Given the description of an element on the screen output the (x, y) to click on. 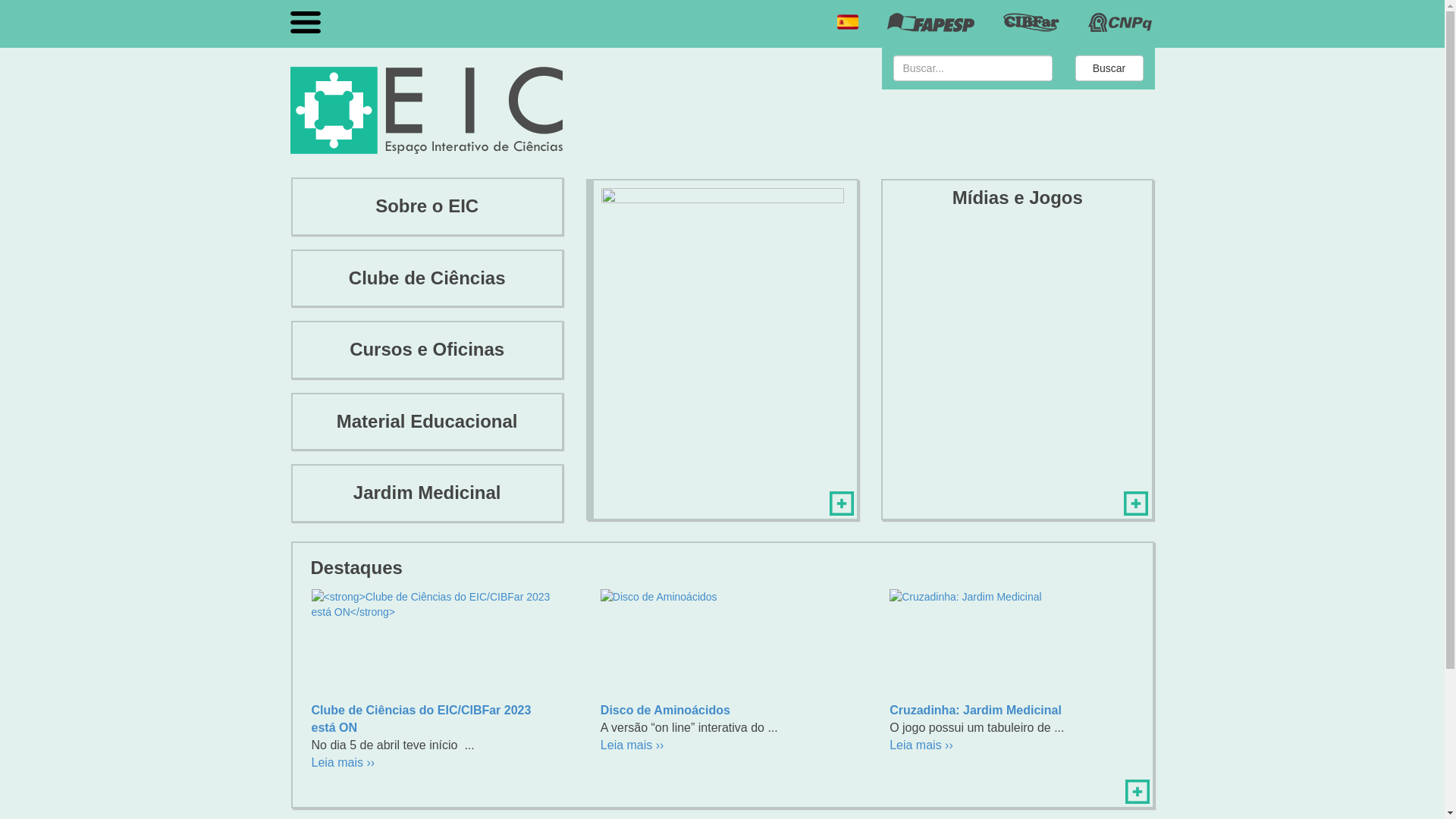
Material Educacional Element type: text (427, 421)
Clique para ler mais posts Element type: hover (1137, 791)
Cruzadinha: Jardim Medicinal Element type: hover (1010, 642)
Sobre o EIC Element type: text (427, 206)
Buscar Element type: text (1109, 68)
Cruzadinha: Jardim Medicinal Element type: text (975, 709)
Jardim Medicinal Element type: text (427, 493)
Clique para saber mais sobre o EIC Element type: hover (841, 503)
Cursos e Oficinas Element type: text (427, 349)
